Given the description of an element on the screen output the (x, y) to click on. 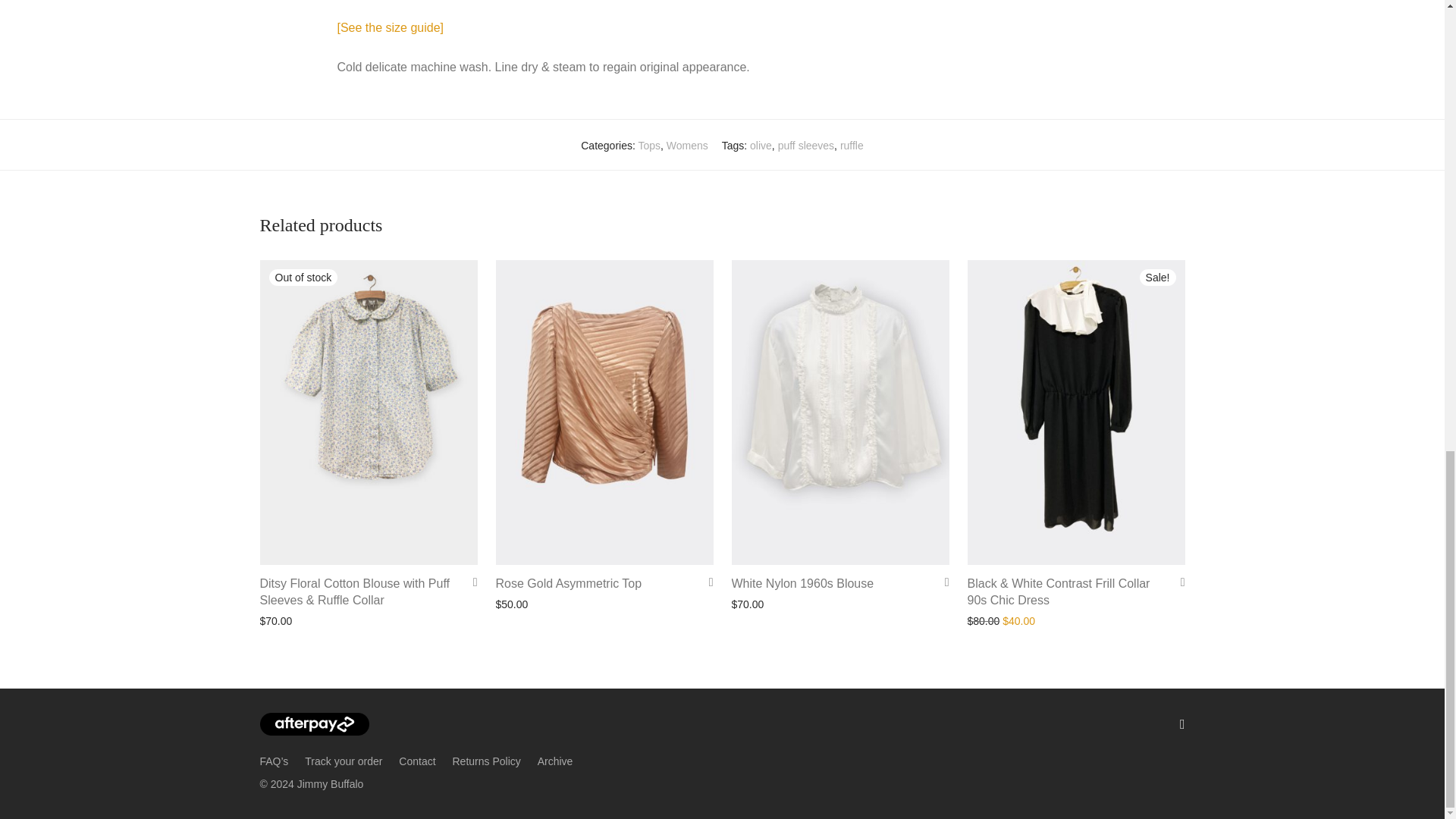
Add to Wishlist (470, 581)
Tops (649, 145)
ruffle (851, 145)
Womens (686, 145)
puff sleeves (805, 145)
Add to Wishlist (941, 581)
Add to Wishlist (705, 581)
olive (760, 145)
